Given the description of an element on the screen output the (x, y) to click on. 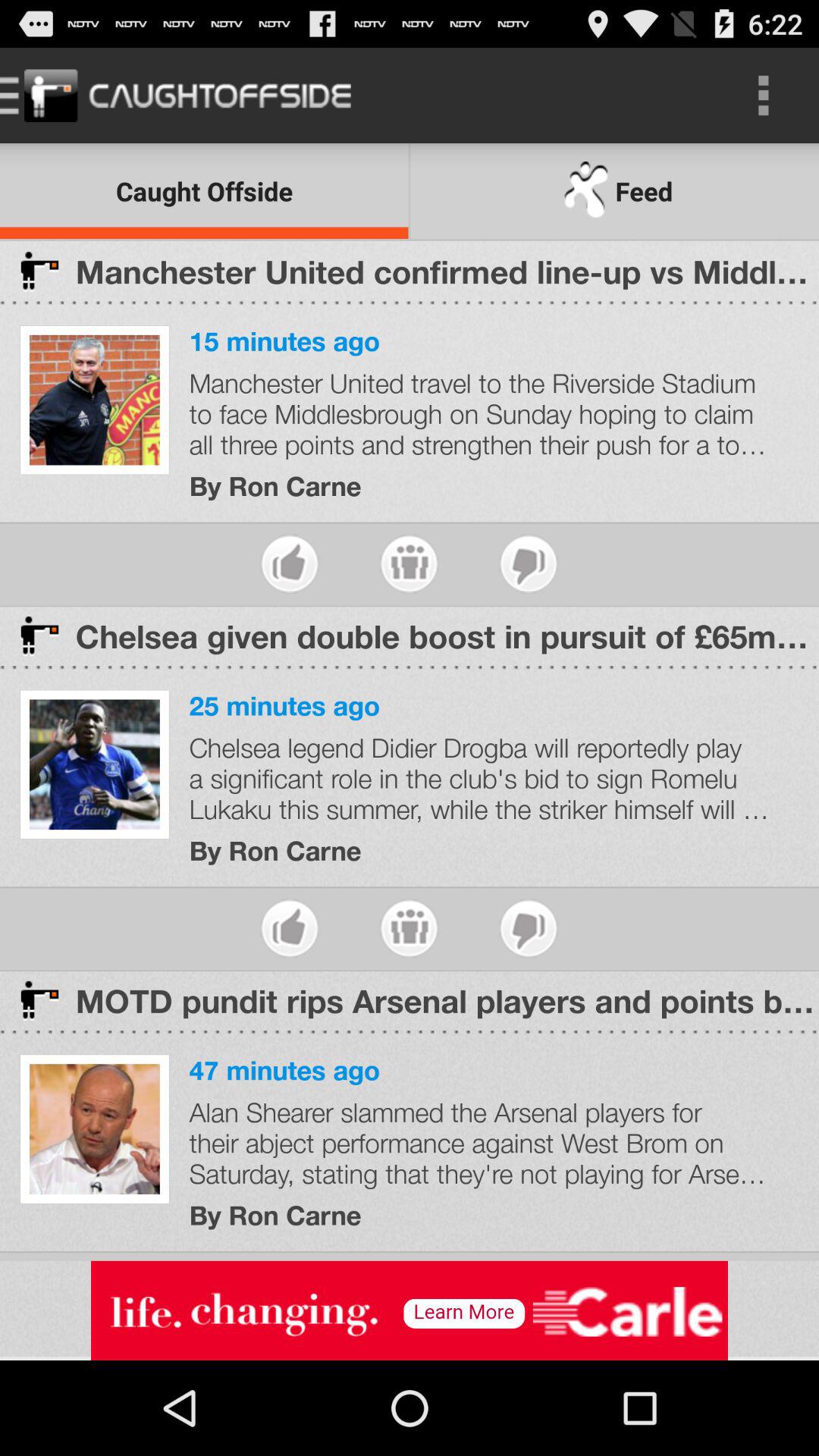
dislike story (528, 563)
